Given the description of an element on the screen output the (x, y) to click on. 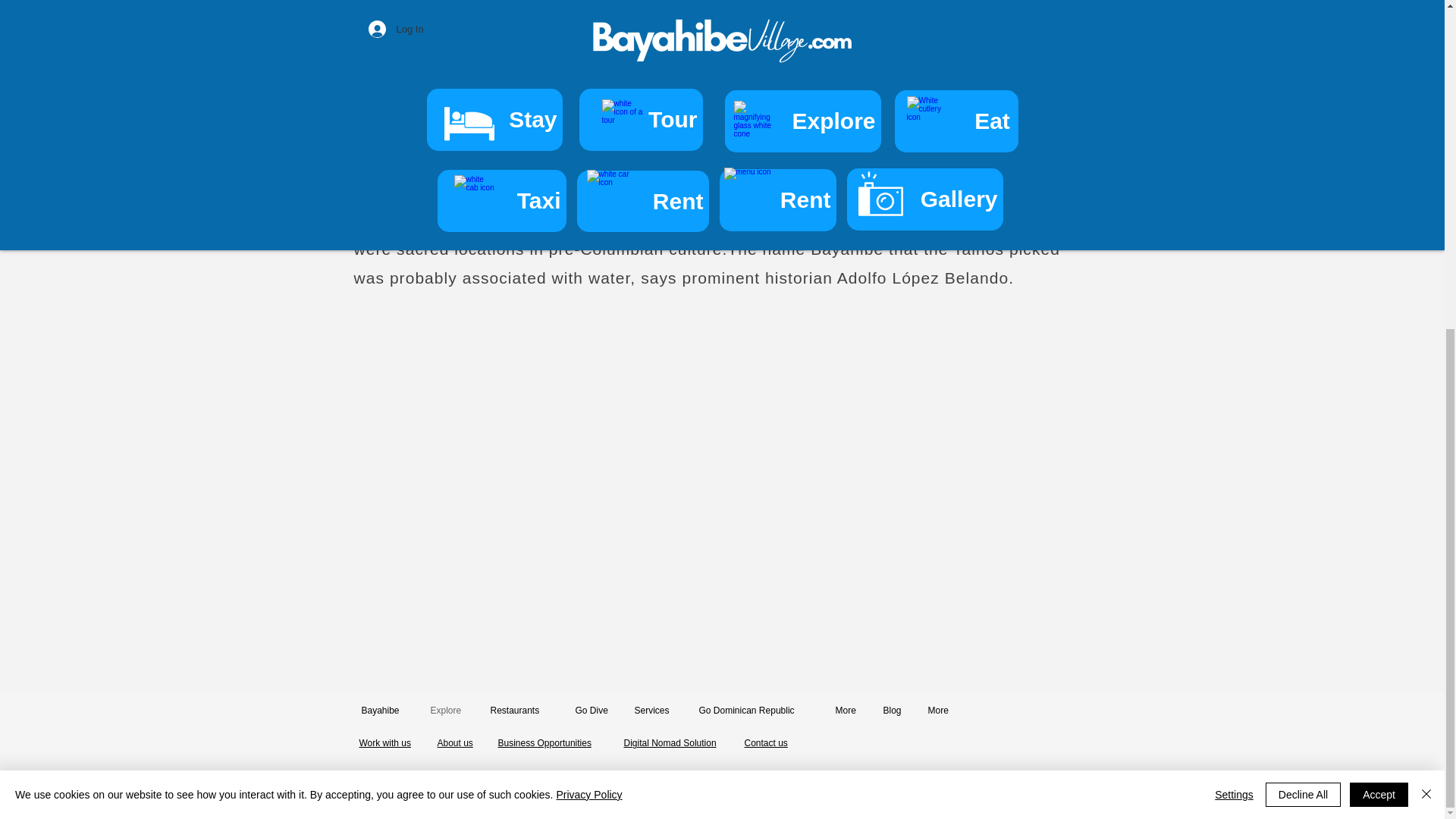
Restaurants (521, 710)
Explore (449, 710)
Bayahibe (384, 710)
